Given the description of an element on the screen output the (x, y) to click on. 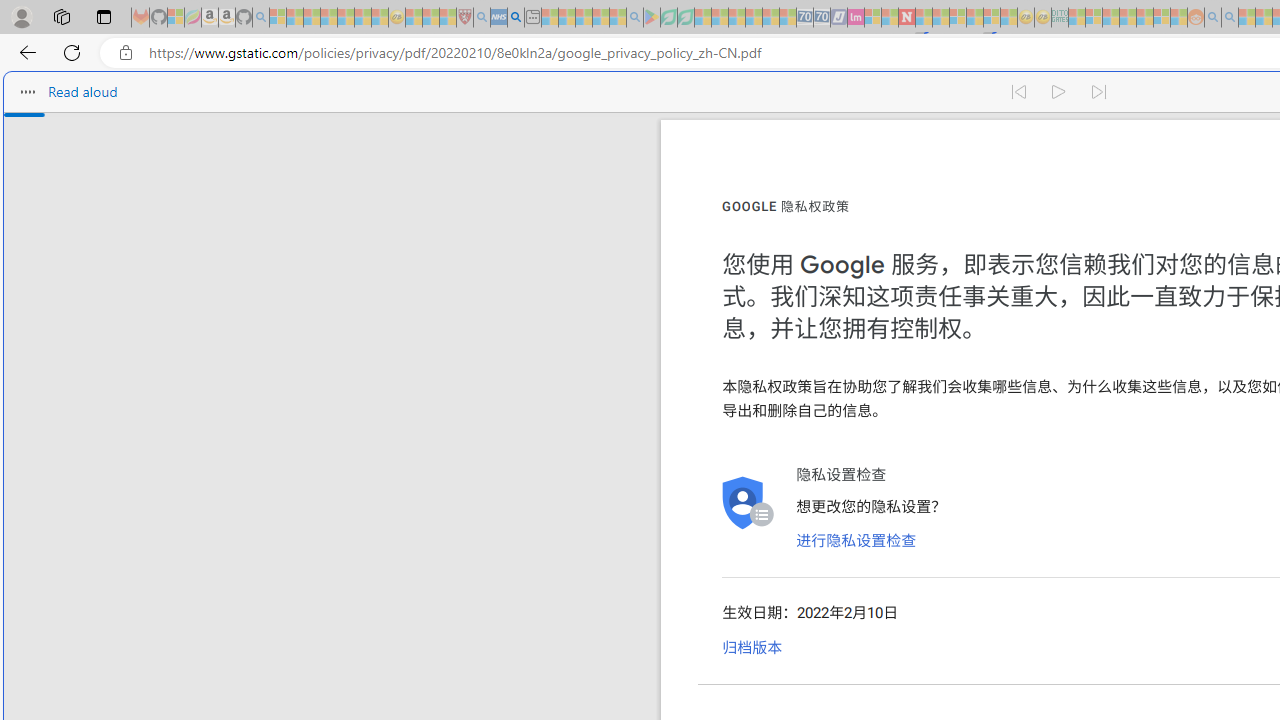
Latest Politics News & Archive | Newsweek.com - Sleeping (906, 17)
MSNBC - MSN - Sleeping (1076, 17)
Microsoft account | Privacy - Sleeping (1093, 17)
Pets - MSN - Sleeping (600, 17)
Kinda Frugal - MSN - Sleeping (1144, 17)
